Given the description of an element on the screen output the (x, y) to click on. 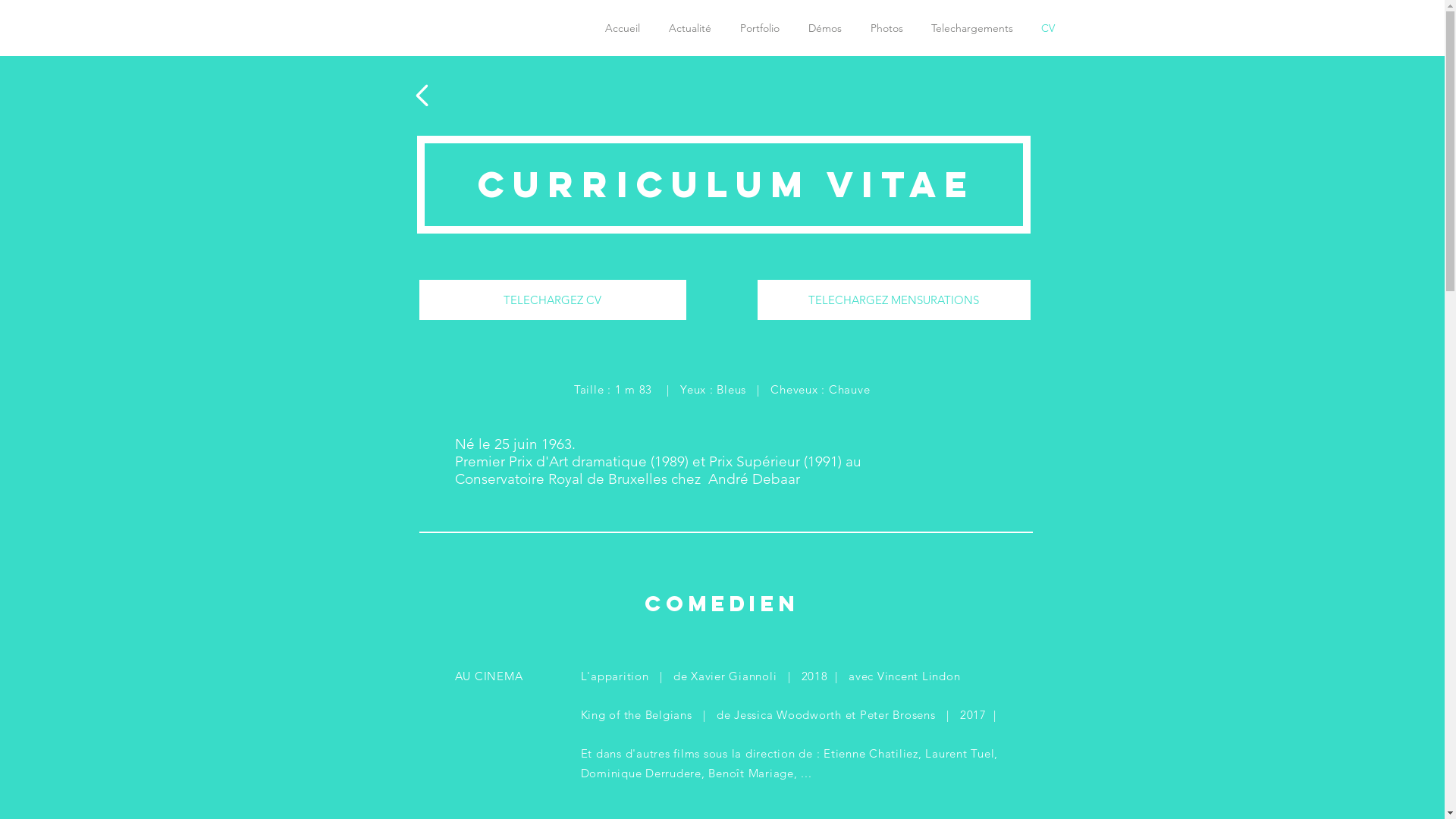
Photos Element type: text (885, 28)
TELECHARGEZ MENSURATIONS Element type: text (892, 299)
Portfolio Element type: text (758, 28)
TELECHARGEZ CV Element type: text (551, 299)
CV Element type: text (1047, 28)
Accueil Element type: text (621, 28)
Telechargements Element type: text (972, 28)
